Given the description of an element on the screen output the (x, y) to click on. 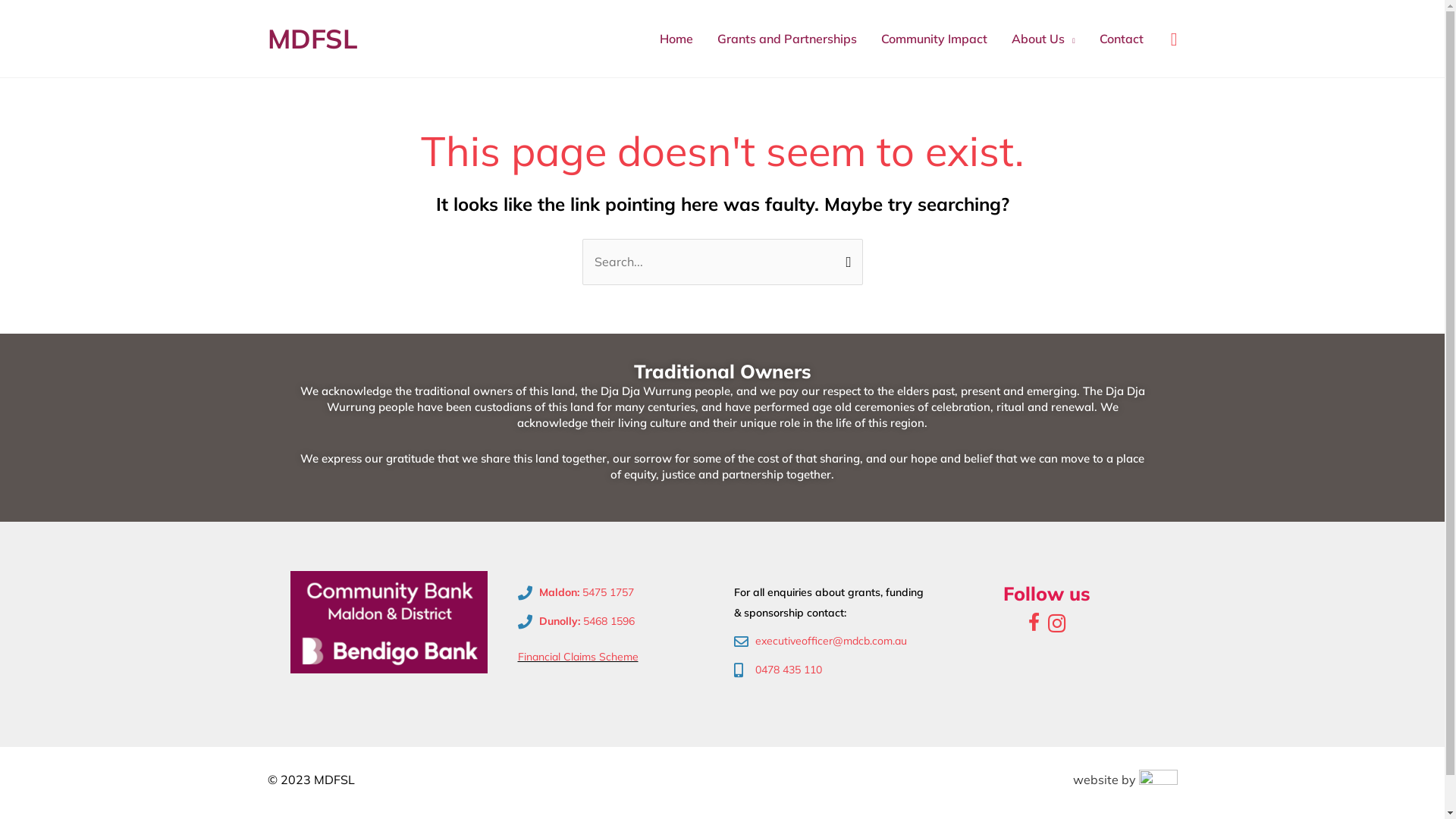
Contact Element type: text (1121, 38)
Search Element type: text (845, 253)
executiveofficer@mdcb.com.au Element type: text (830, 640)
Financial Claims Scheme Element type: text (577, 656)
Maldon: 5475 1757 Element type: text (613, 592)
website by Element type: text (1124, 779)
About Us Element type: text (1043, 38)
Community Impact Element type: text (934, 38)
Dunolly: 5468 1596 Element type: text (613, 621)
Grants and Partnerships Element type: text (787, 38)
Home Element type: text (676, 38)
0478 435 110 Element type: text (830, 669)
MDFSL Element type: text (311, 38)
